Given the description of an element on the screen output the (x, y) to click on. 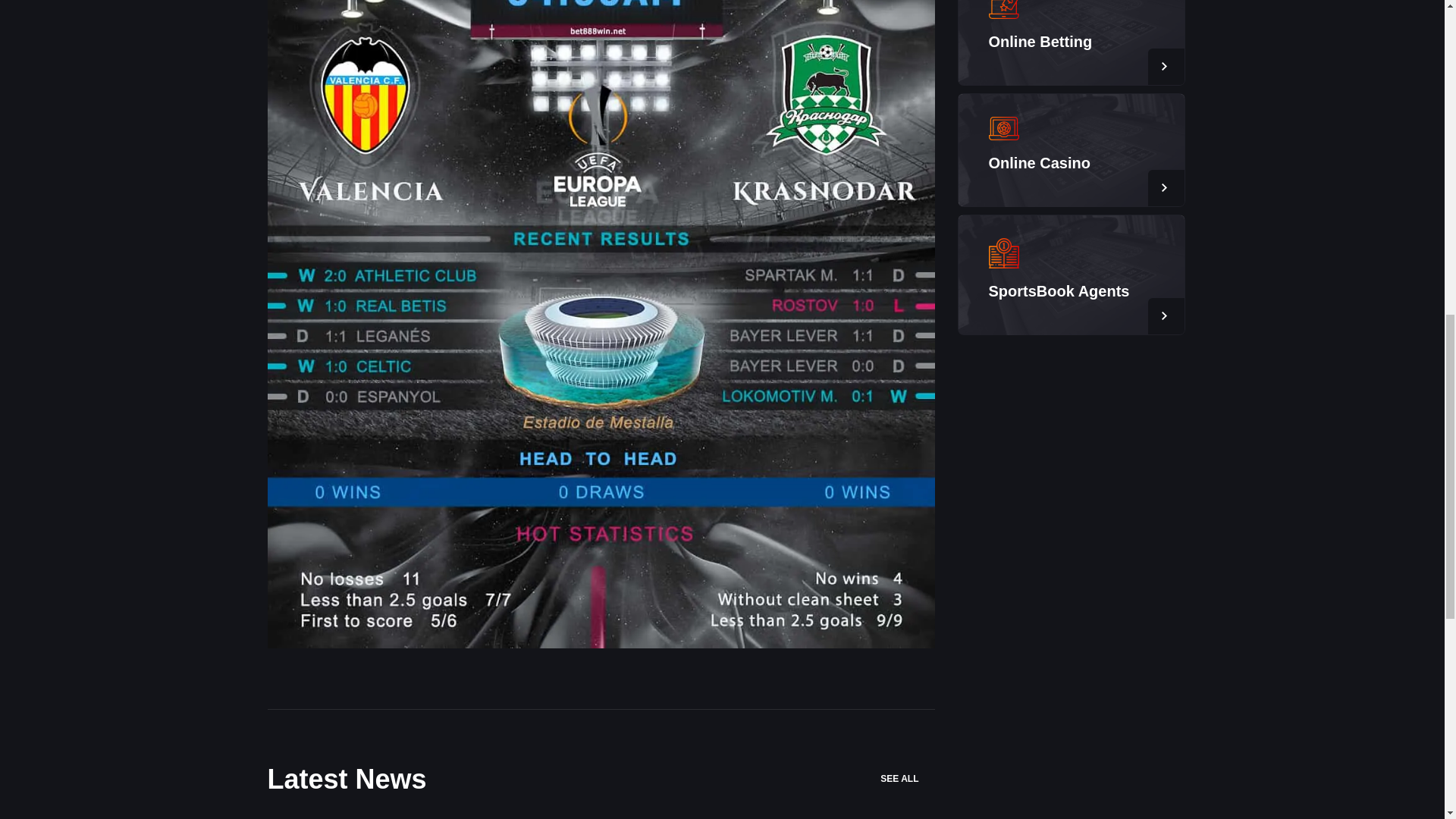
Online Casino (1039, 162)
SEE ALL (907, 778)
Online Betting (1040, 41)
SportsBook Agents (1058, 290)
